Given the description of an element on the screen output the (x, y) to click on. 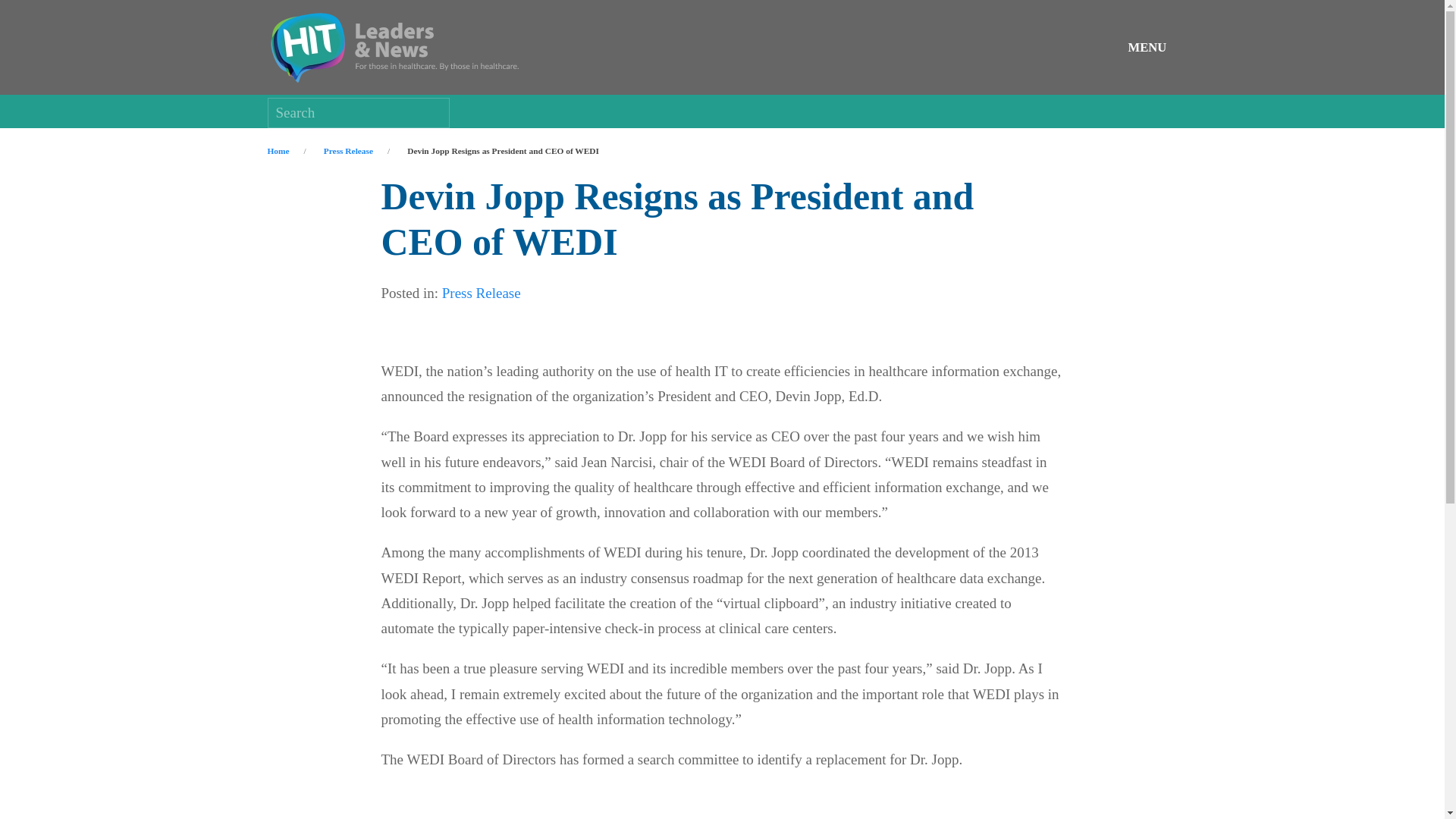
MENU (1152, 47)
